Given the description of an element on the screen output the (x, y) to click on. 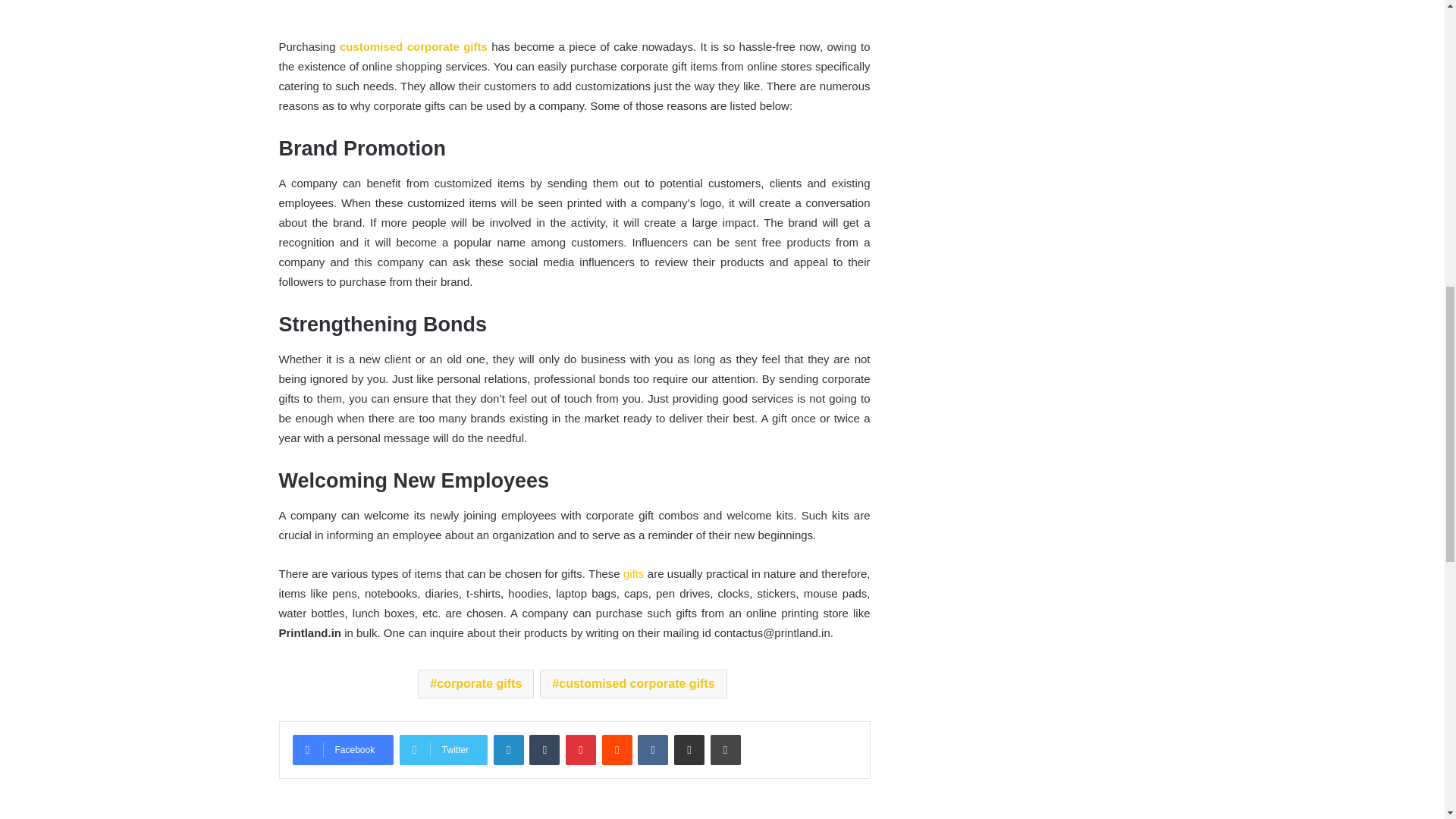
Reddit (616, 749)
Pinterest (580, 749)
gifts (634, 573)
customised corporate gifts (633, 683)
Facebook (343, 749)
customised corporate gifts (413, 46)
corporate gifts (475, 683)
Tumblr (544, 749)
Facebook (343, 749)
Twitter (442, 749)
LinkedIn (508, 749)
Twitter (442, 749)
LinkedIn (508, 749)
